Given the description of an element on the screen output the (x, y) to click on. 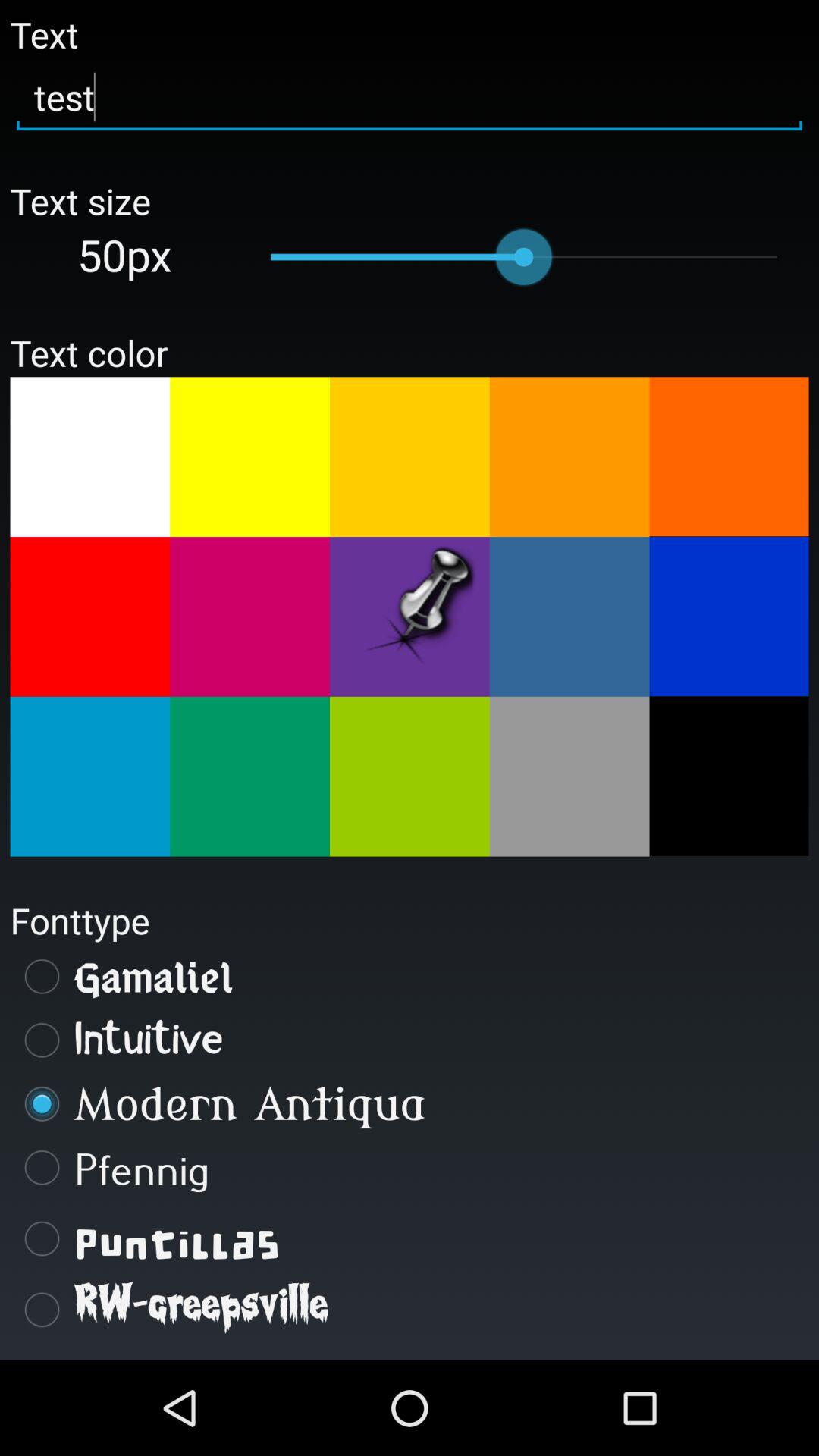
select text color (409, 616)
